Given the description of an element on the screen output the (x, y) to click on. 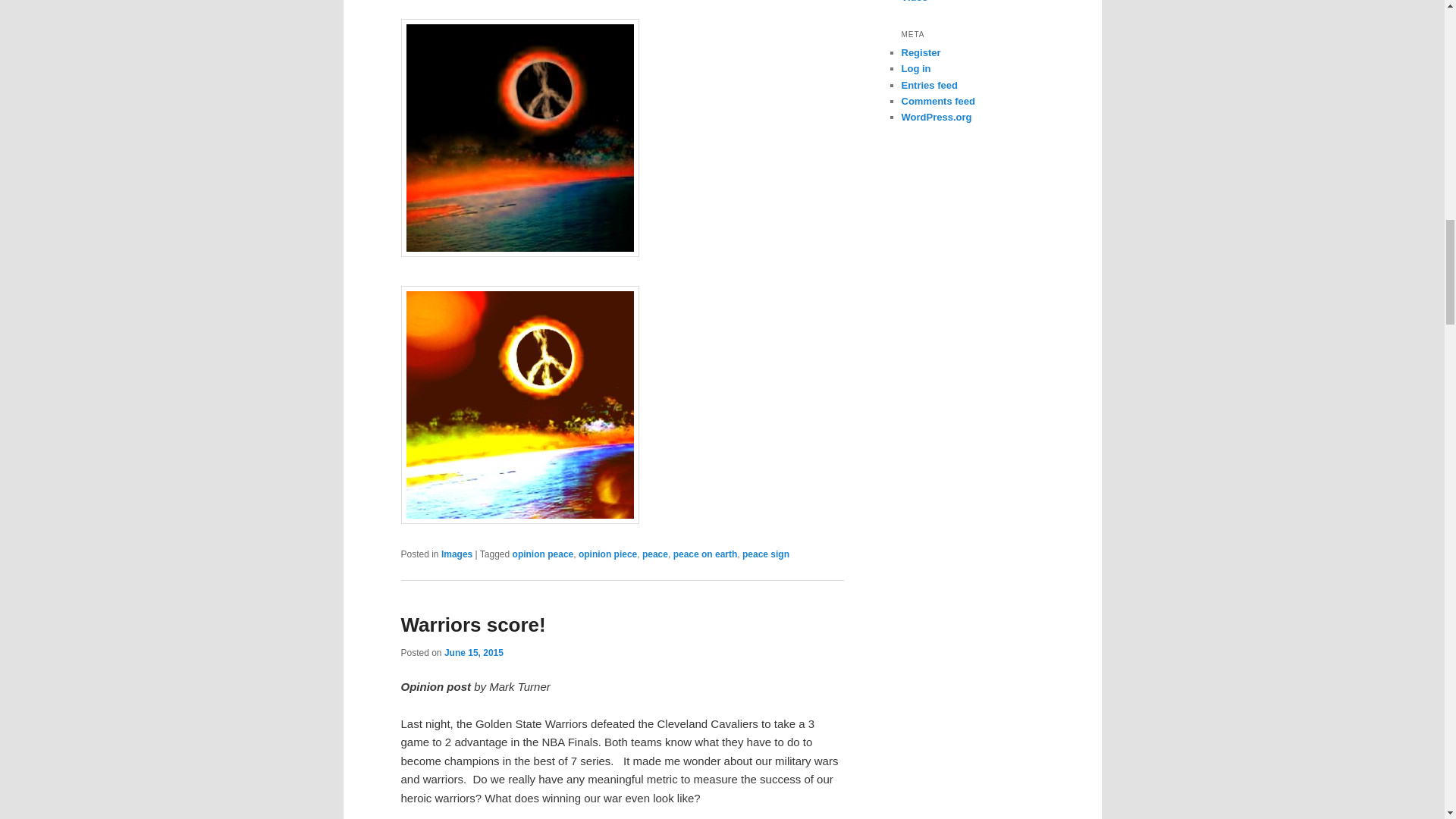
peace (655, 553)
6:02 pm (473, 652)
peace on earth (705, 553)
Images (456, 553)
Warriors score! (472, 624)
June 15, 2015 (473, 652)
opinion piece (607, 553)
peace sign (765, 553)
opinion peace (542, 553)
